Given the description of an element on the screen output the (x, y) to click on. 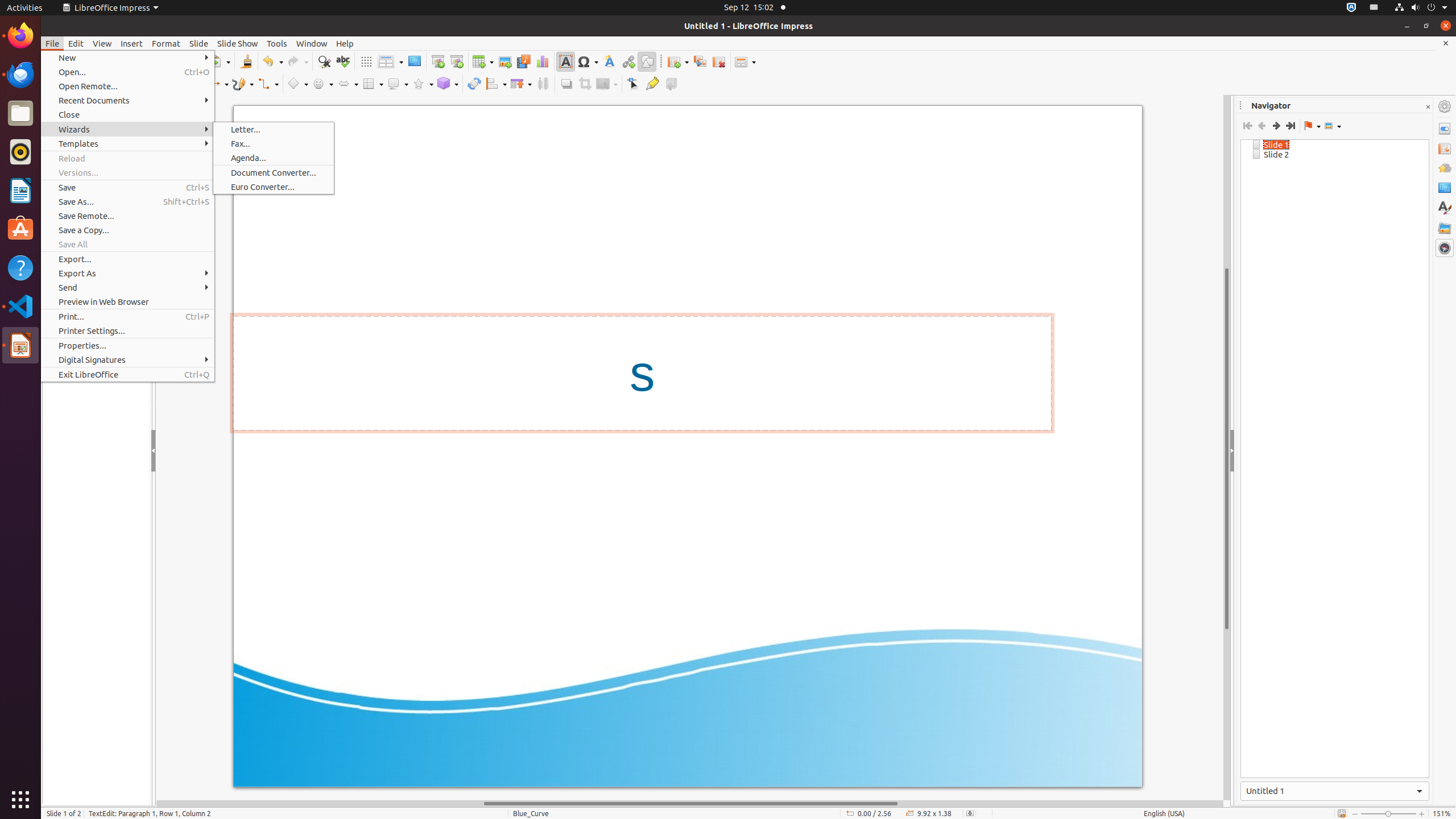
Save Remote... Element type: menu-item (127, 215)
Animation Element type: radio-button (1444, 168)
Insert Element type: menu (131, 43)
Tools Element type: menu (276, 43)
View Element type: menu (102, 43)
